Given the description of an element on the screen output the (x, y) to click on. 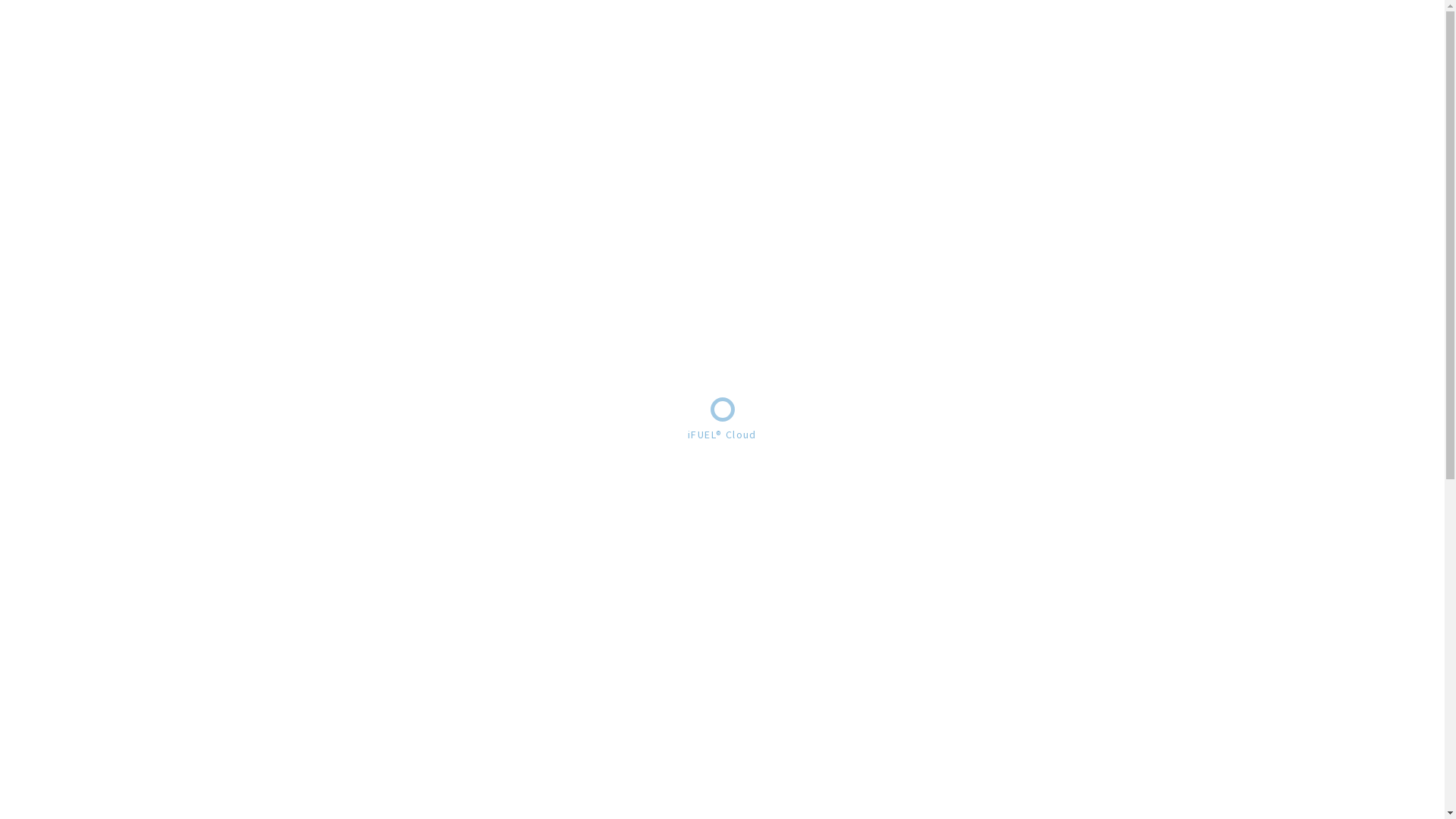
Contact Element type: text (1074, 37)
Send Element type: text (1229, 782)
